Given the description of an element on the screen output the (x, y) to click on. 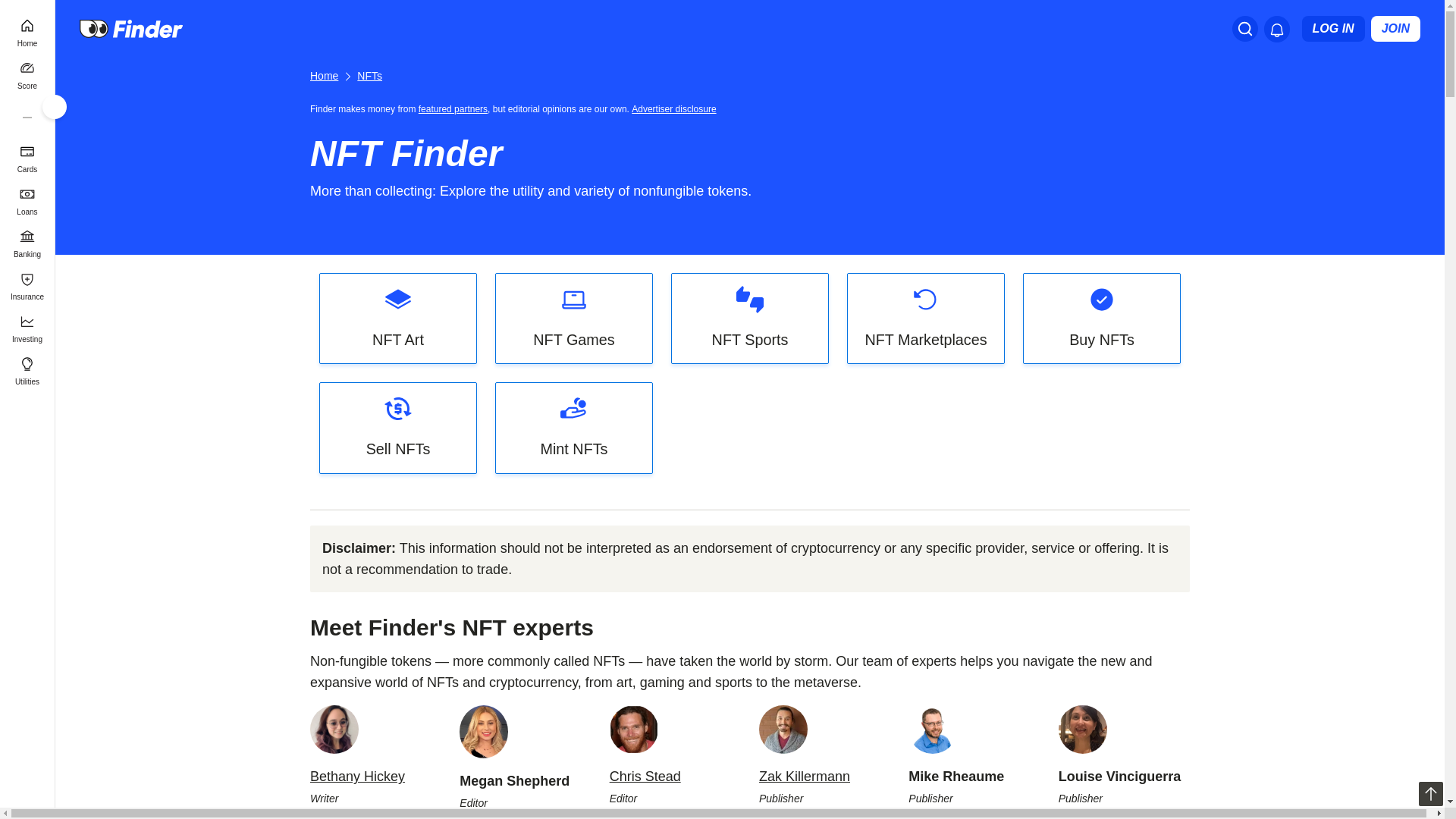
Important information about this website (676, 108)
Back to Top (1430, 793)
